Given the description of an element on the screen output the (x, y) to click on. 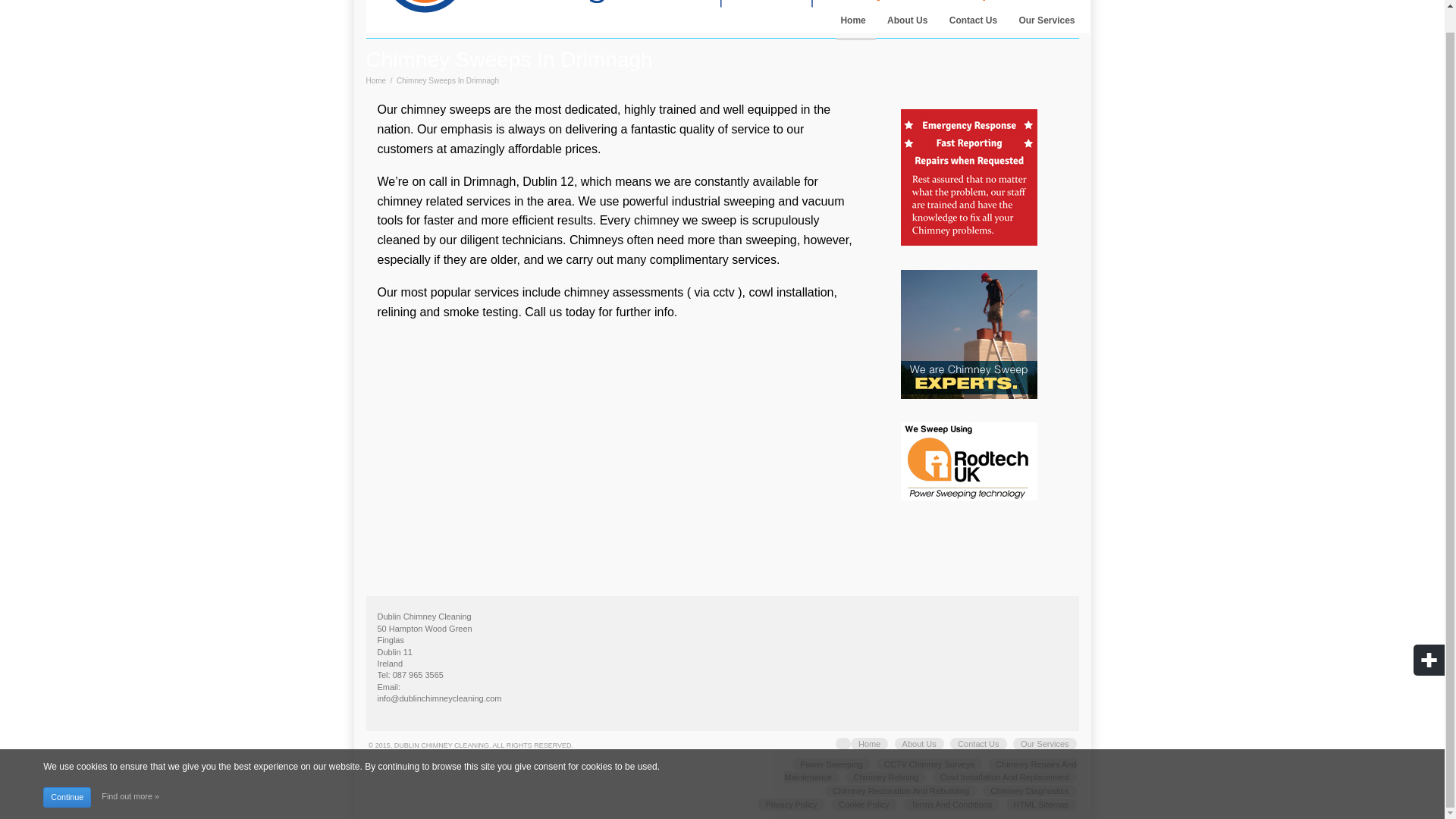
Home (375, 80)
About Us (919, 743)
Chimney Relining (885, 776)
Chimney Restoration And Rebuilding (900, 790)
Power Sweeping (831, 764)
Our Services (1046, 24)
Cowl Installation And Replacement (1005, 776)
Chimney Repairs And Maintenance (929, 770)
cowl installation (790, 291)
About Us (907, 24)
Our Services (1045, 743)
Home (852, 24)
We use powerful industrial sweeping and vacuum tools (610, 210)
Contact Us (972, 24)
Home (869, 743)
